Given the description of an element on the screen output the (x, y) to click on. 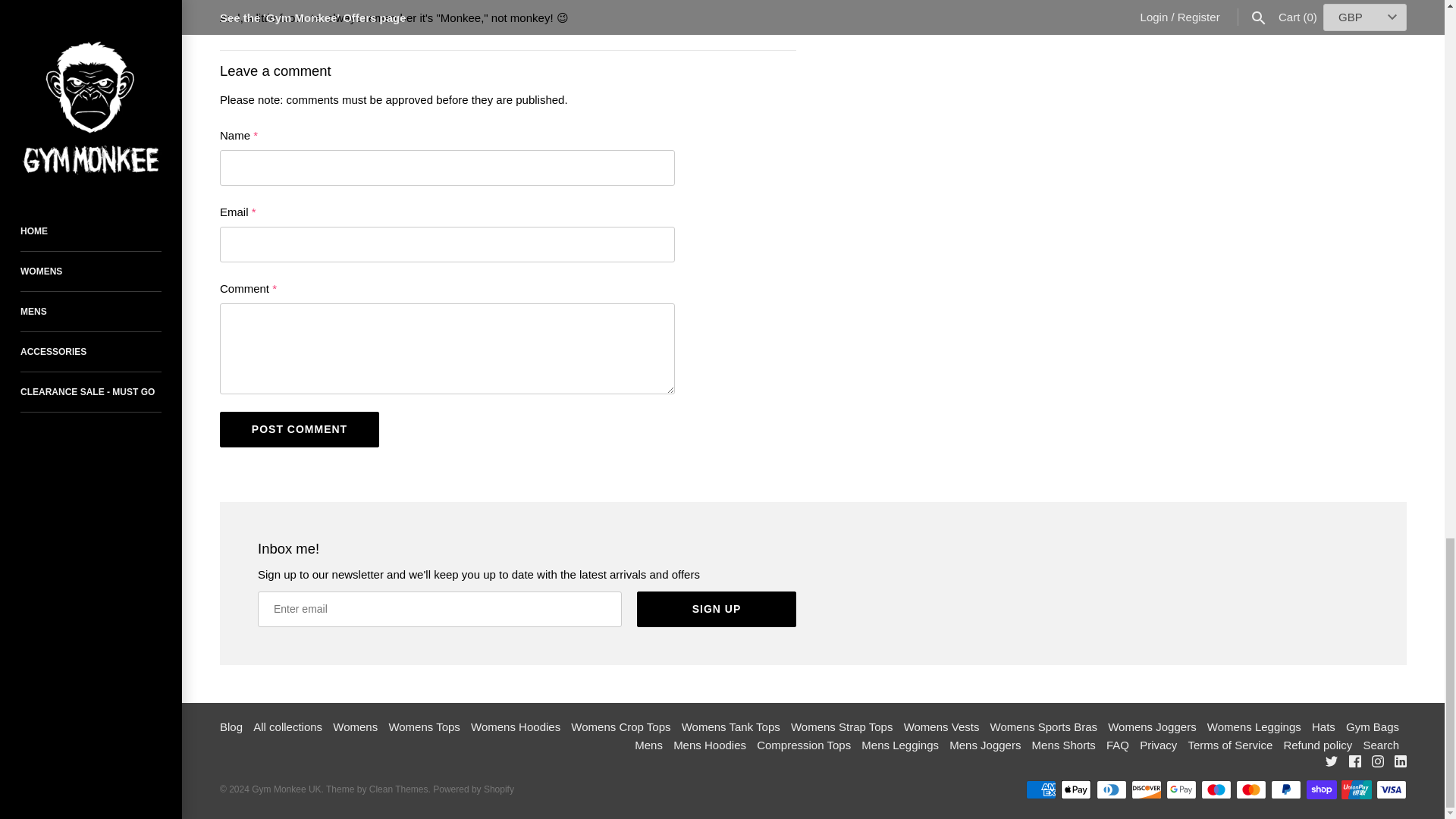
Blog (231, 726)
All collections (287, 726)
Twitter (1331, 761)
Post comment (298, 429)
SIGN UP (716, 609)
Facebook (1355, 761)
Post comment (298, 429)
Instagram (1377, 761)
